Given the description of an element on the screen output the (x, y) to click on. 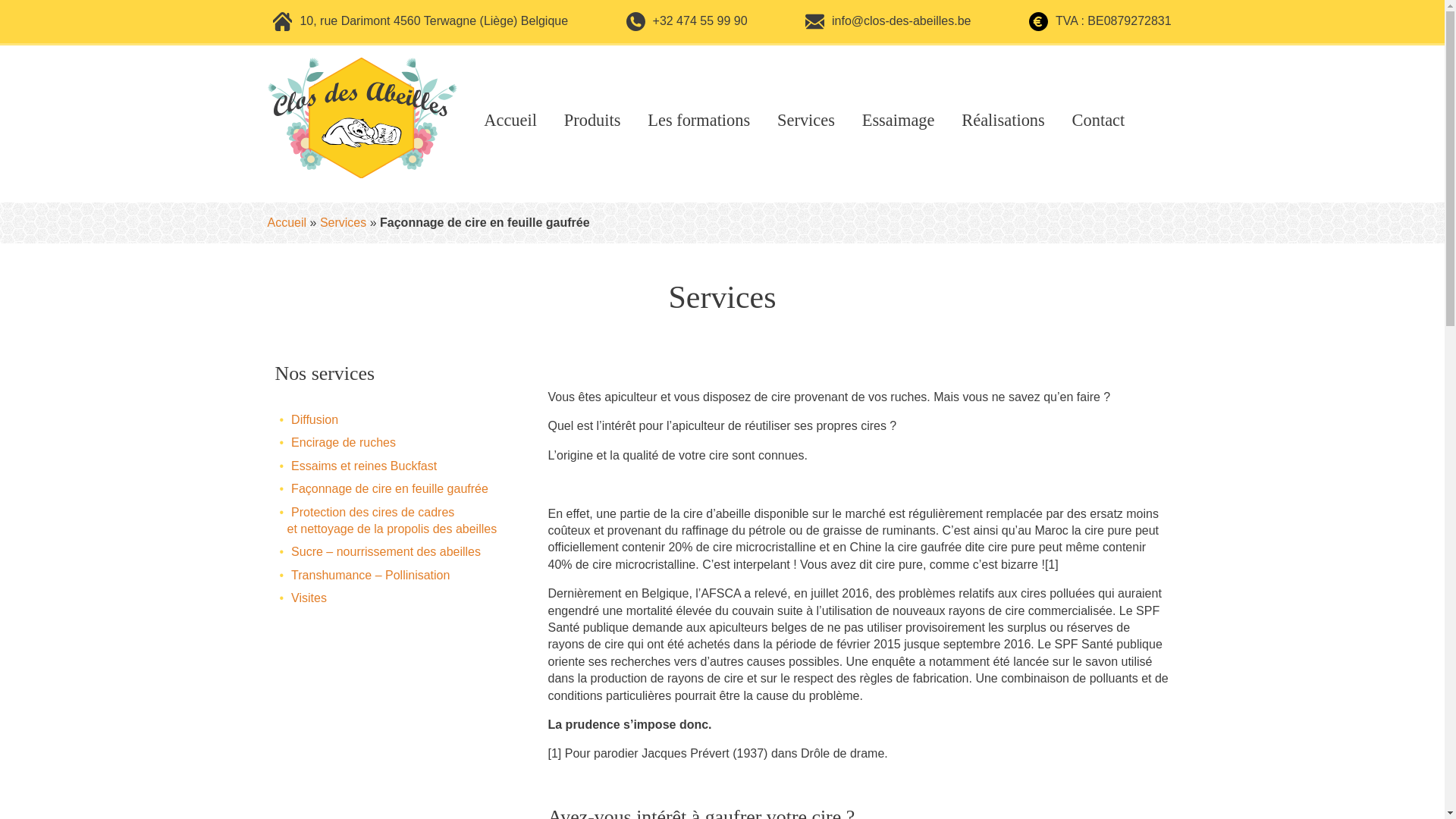
Services Element type: text (343, 222)
Encirage de ruches Element type: text (343, 442)
Visites Element type: text (308, 597)
Les formations Element type: text (698, 119)
Produits Element type: text (592, 119)
Diffusion Element type: text (314, 419)
Services Element type: text (805, 119)
Essaims et reines Buckfast Element type: text (363, 465)
Contact Element type: text (1098, 119)
Essaimage Element type: text (898, 119)
Accueil Element type: text (286, 222)
Accueil Element type: text (509, 119)
